Given the description of an element on the screen output the (x, y) to click on. 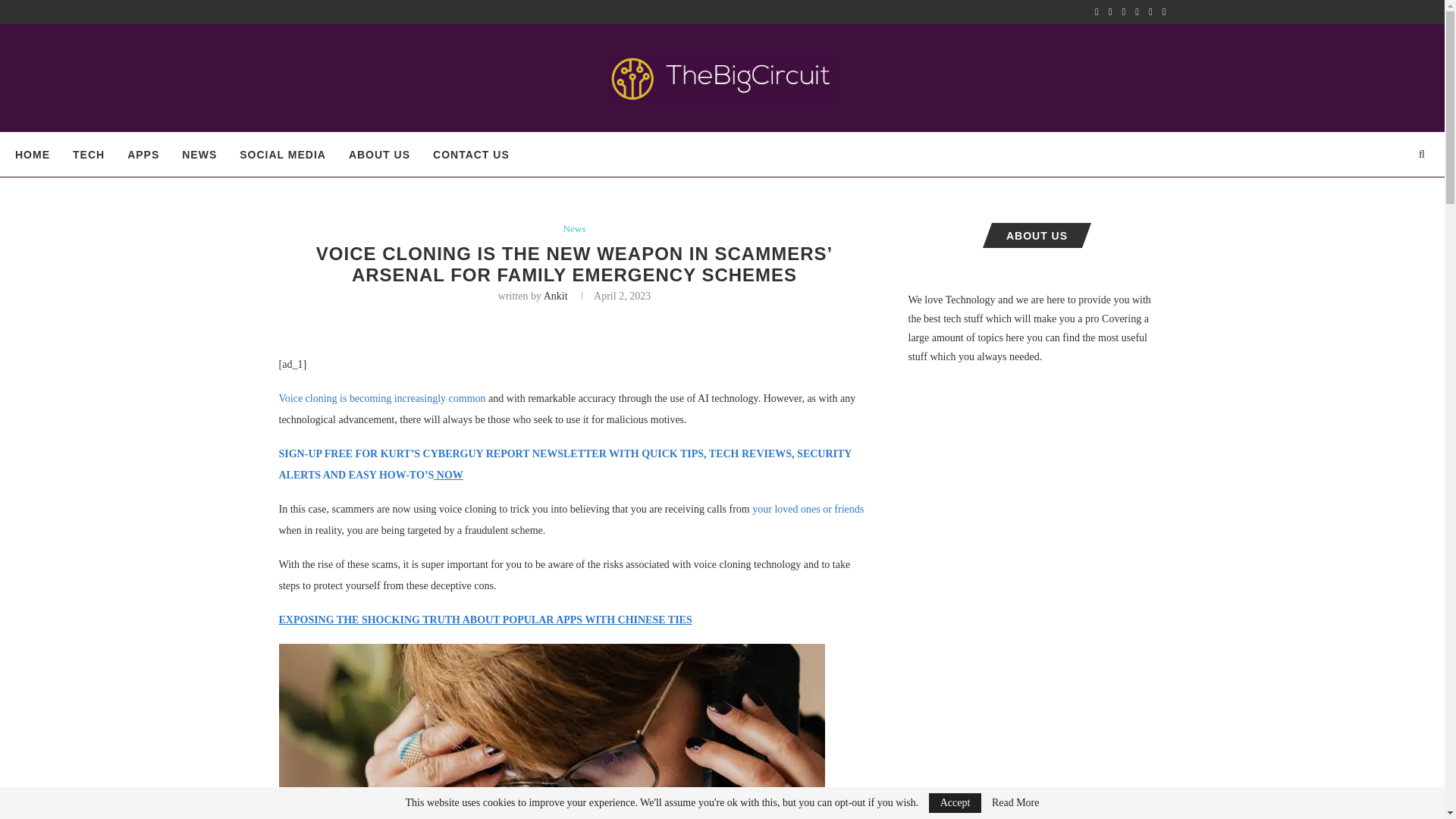
Ankit (555, 296)
your loved ones or friends (807, 509)
Voice cloning is becoming increasingly common (382, 398)
SOCIAL MEDIA (283, 154)
ABOUT US (379, 154)
News (574, 228)
CONTACT US (470, 154)
